Given the description of an element on the screen output the (x, y) to click on. 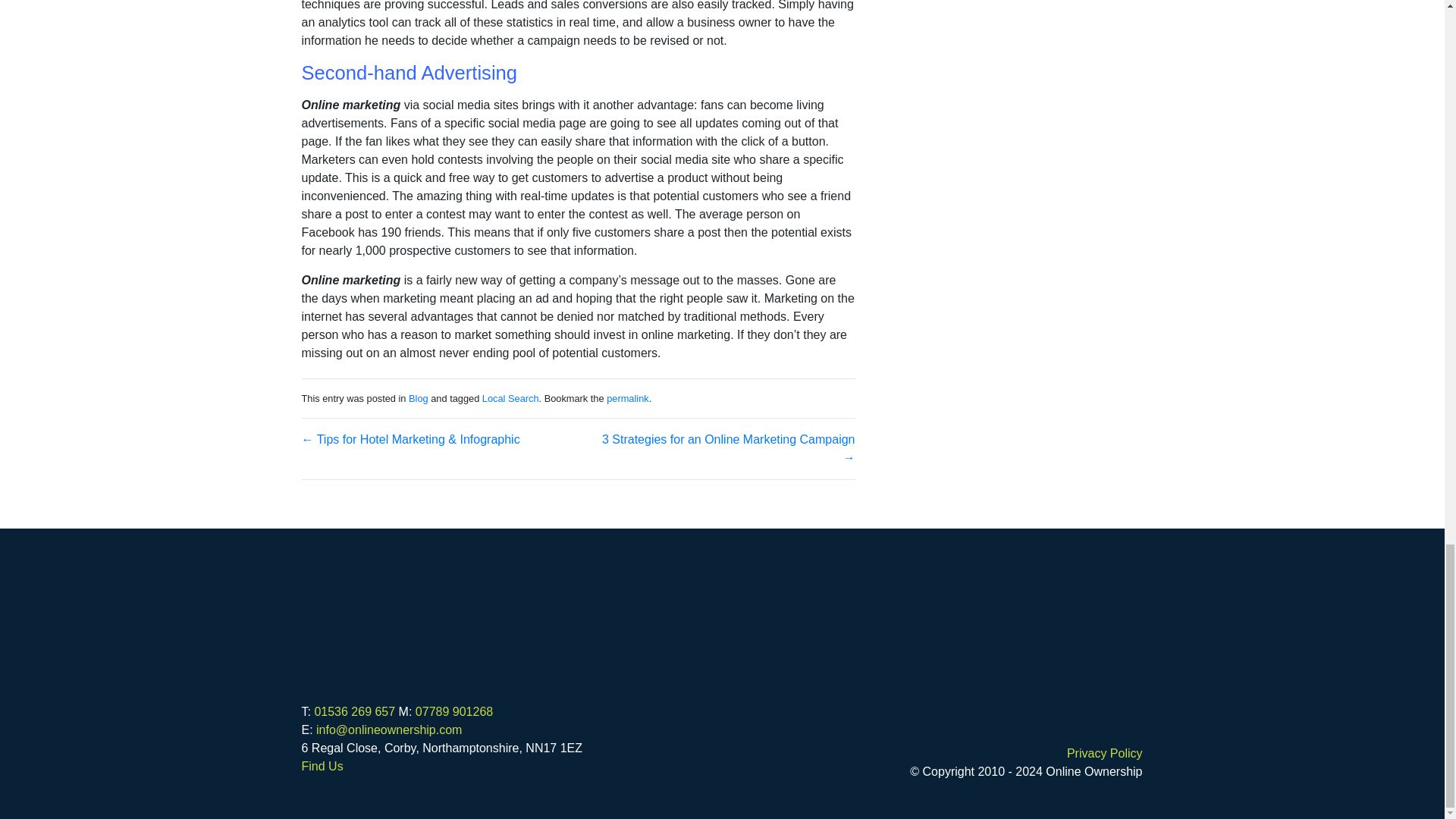
Blog (418, 398)
Local Search (509, 398)
permalink (627, 398)
